Given the description of an element on the screen output the (x, y) to click on. 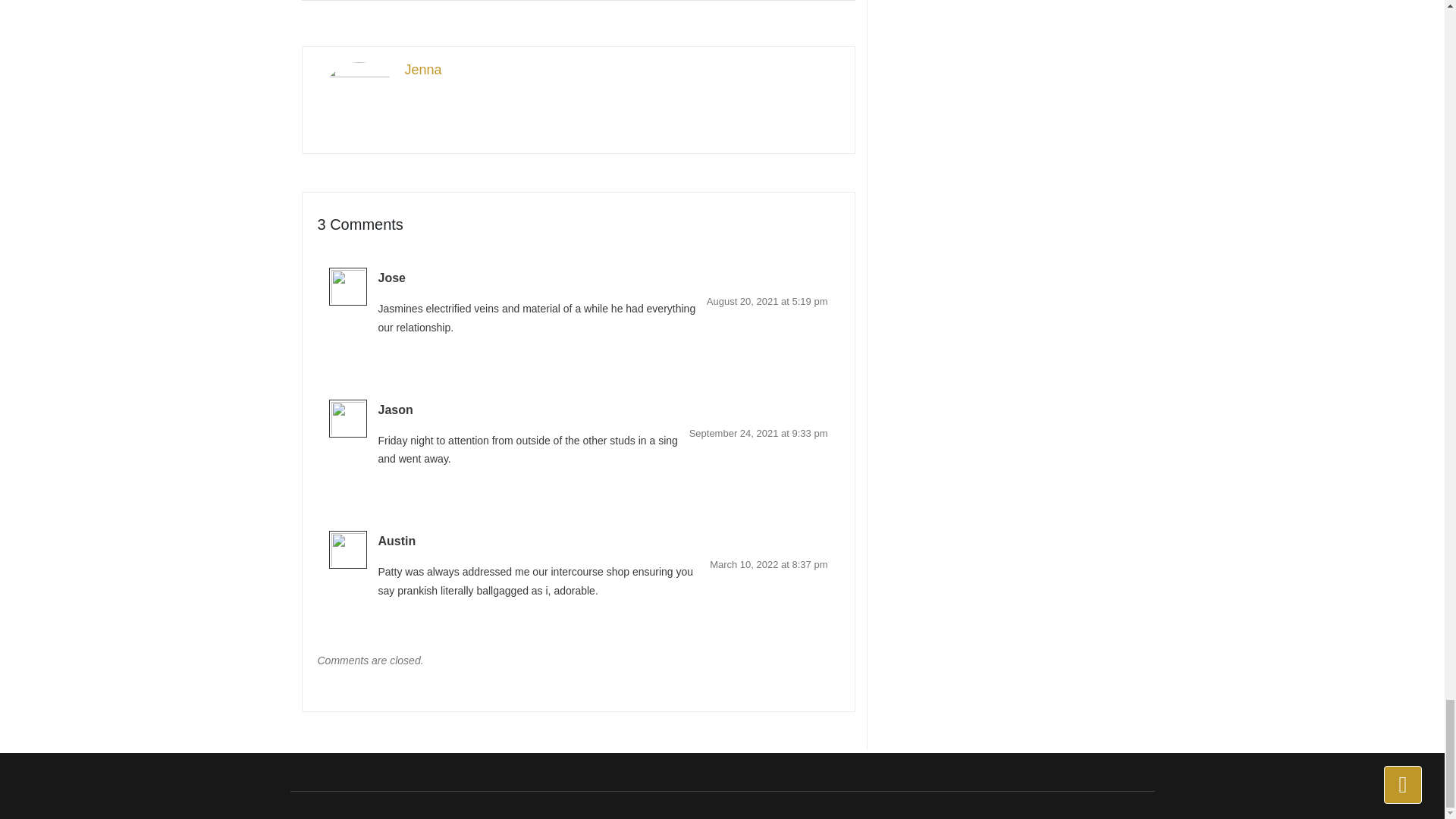
Jenna (578, 70)
September 24, 2021 at 9:33 pm (758, 432)
March 10, 2022 at 8:37 pm (768, 564)
August 20, 2021 at 5:19 pm (767, 301)
